Given the description of an element on the screen output the (x, y) to click on. 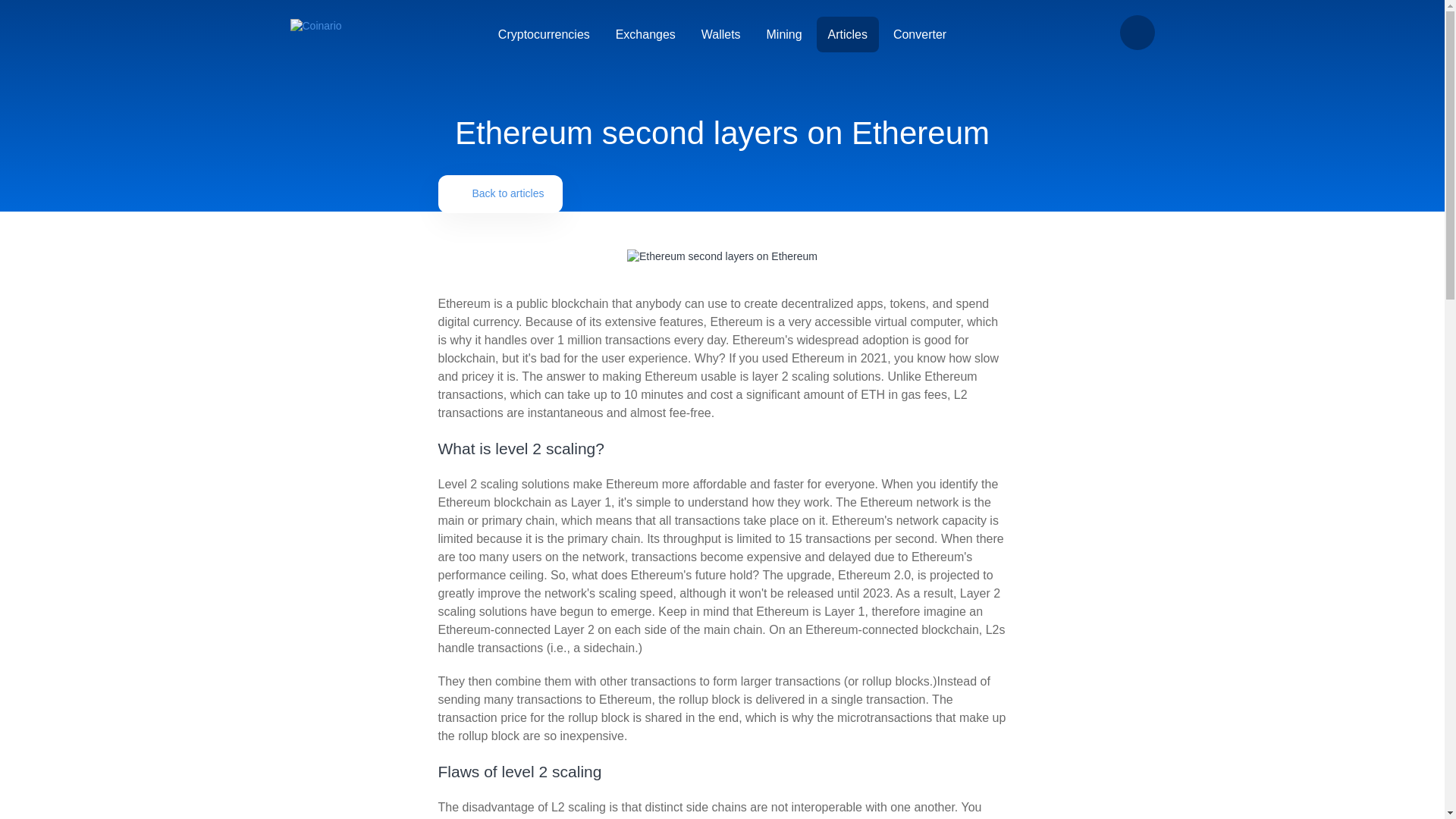
Mining (784, 34)
Cryptocurrencies (543, 34)
Wallets (721, 34)
Articles (847, 34)
Exchanges (645, 34)
Back to articles (500, 193)
Converter (920, 34)
